Given the description of an element on the screen output the (x, y) to click on. 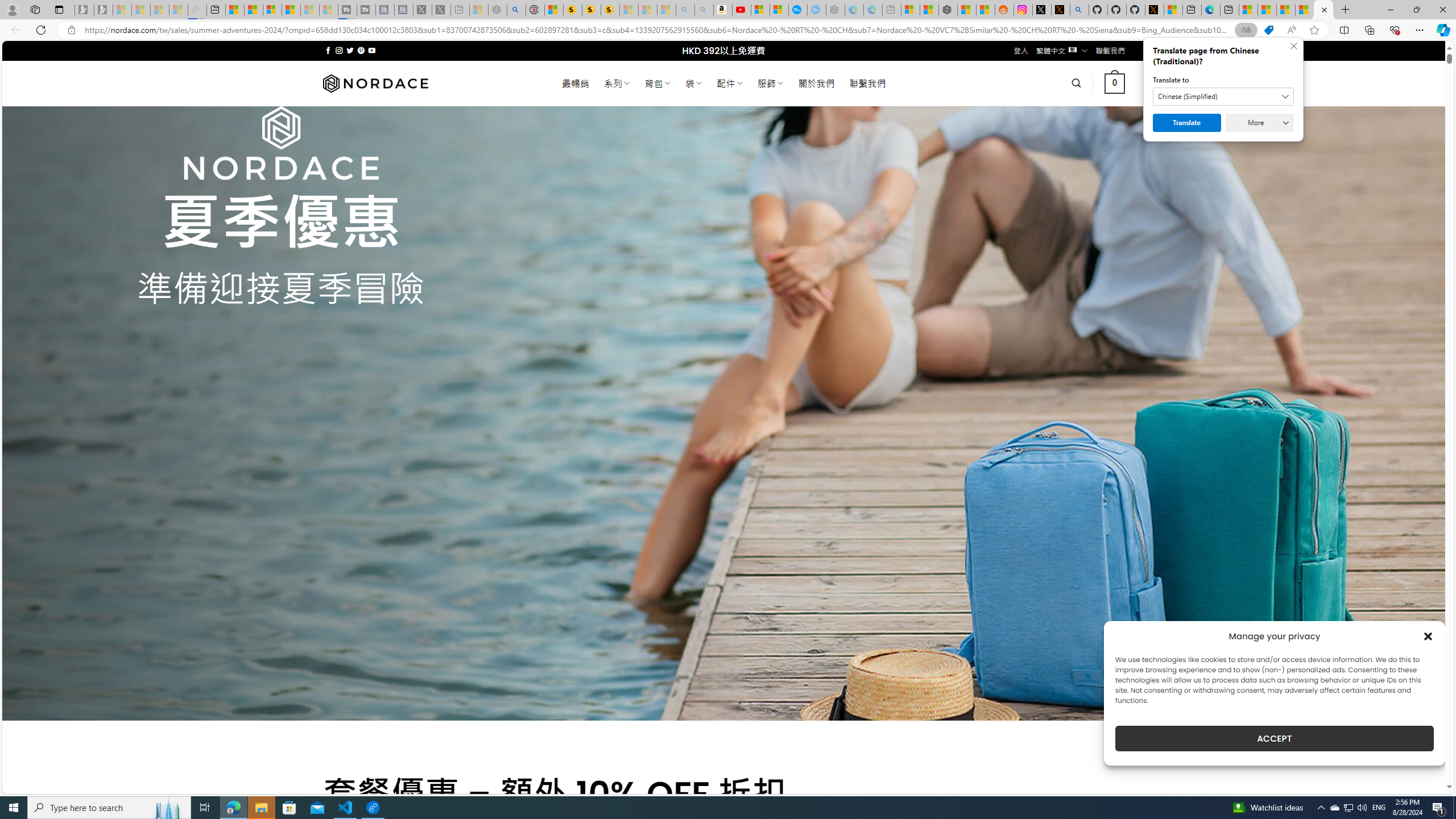
Collections (1369, 29)
Follow on Twitter (349, 50)
Back (13, 29)
Follow on Instagram (338, 50)
X - Sleeping (440, 9)
